Given the description of an element on the screen output the (x, y) to click on. 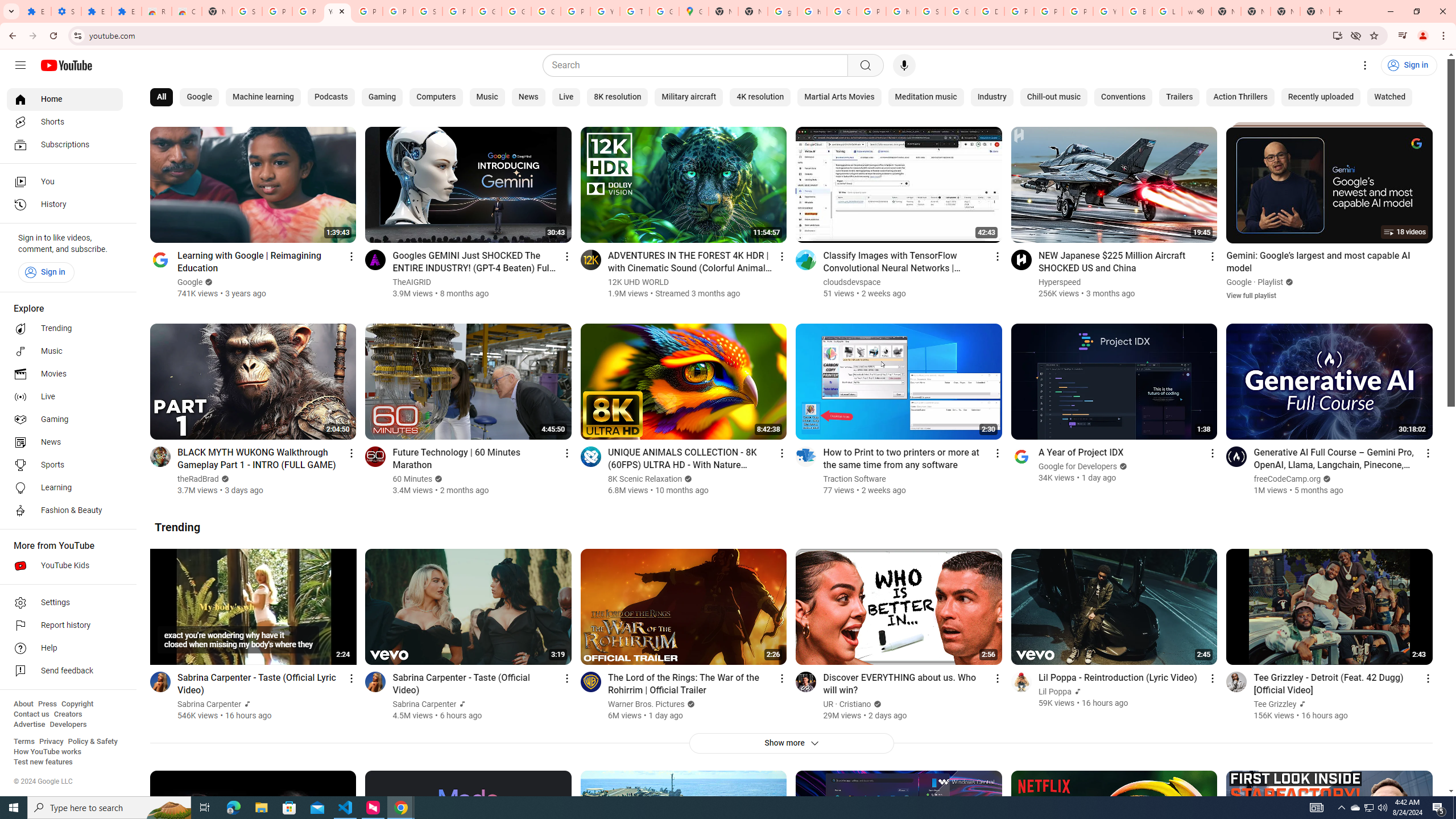
Computers (436, 97)
News (528, 97)
Live (565, 97)
Verified (875, 704)
Report history (64, 625)
Send feedback (64, 671)
